Given the description of an element on the screen output the (x, y) to click on. 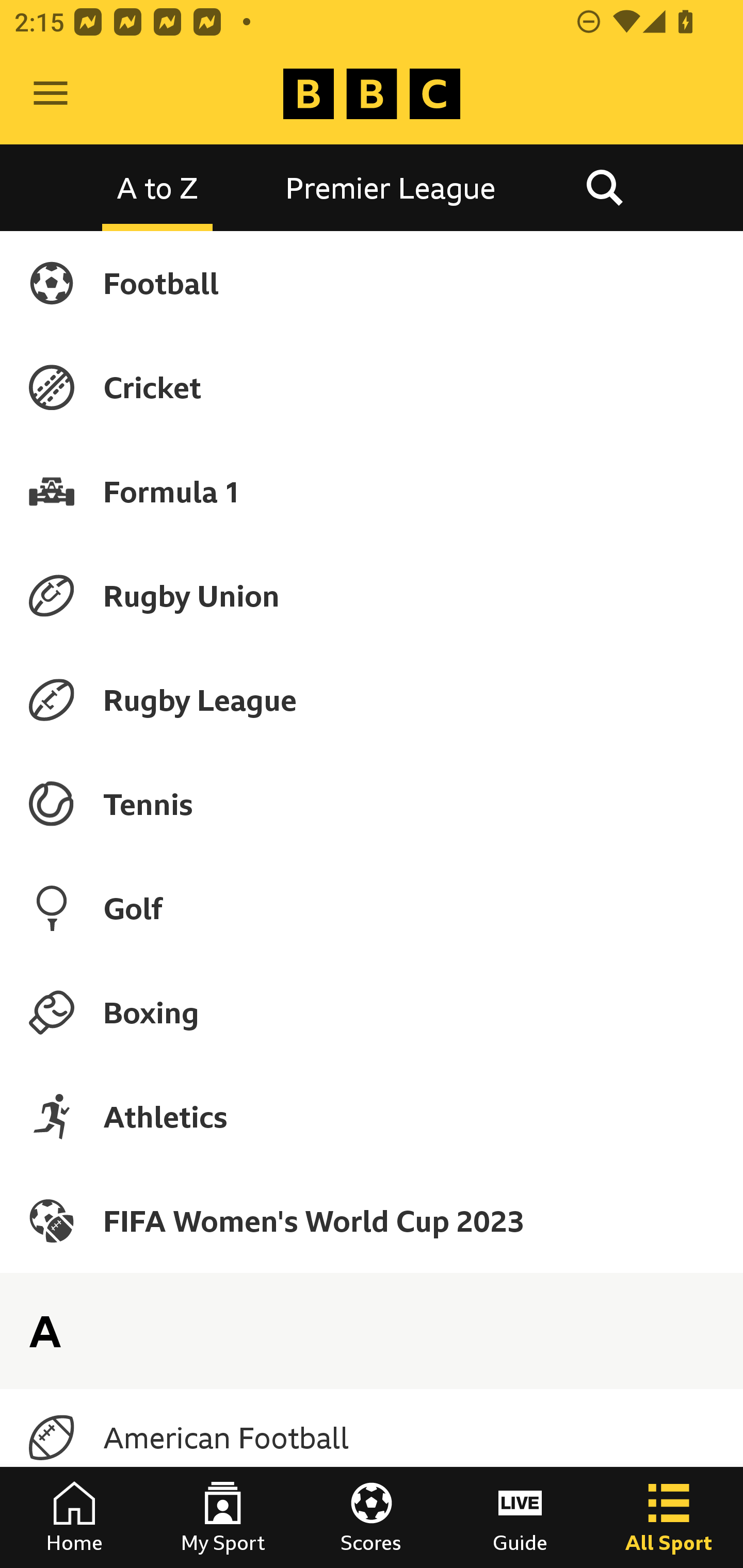
Open Menu (50, 93)
Premier League (390, 187)
Search (604, 187)
Football (371, 282)
Cricket (371, 387)
Formula 1 (371, 491)
Rugby Union (371, 595)
Rugby League (371, 699)
Tennis (371, 804)
Golf (371, 907)
Boxing (371, 1011)
Athletics (371, 1116)
FIFA Women's World Cup 2023 (371, 1220)
American Football (371, 1437)
Home (74, 1517)
My Sport (222, 1517)
Scores (371, 1517)
Guide (519, 1517)
